Given the description of an element on the screen output the (x, y) to click on. 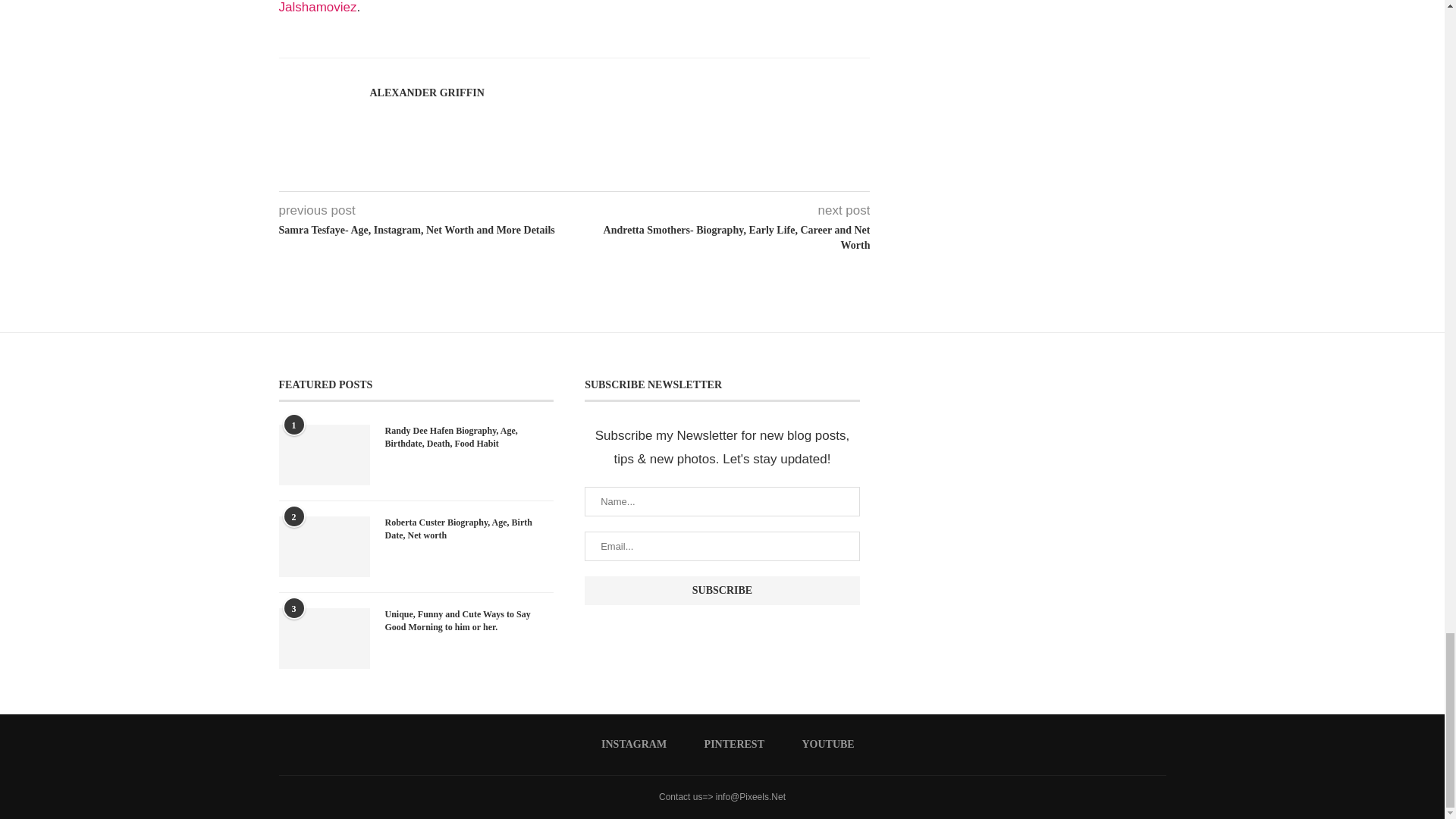
ALEXANDER GRIFFIN (426, 92)
Roberta Custer Biography, Age, Birth Date, Net worth (324, 546)
Randy Dee Hafen Biography, Age, Birthdate, Death, Food Habit (469, 437)
Subscribe (722, 590)
Randy Dee Hafen Biography, Age, Birthdate, Death, Food Habit (324, 455)
Roberta Custer Biography, Age, Birth Date, Net worth (469, 529)
Randy Dee Hafen Biography, Age, Birthdate, Death, Food Habit (469, 437)
Author Alexander Griffin (426, 92)
Jalshamoviez (317, 7)
Samra Tesfaye- Age, Instagram, Net Worth and More Details (427, 230)
